Given the description of an element on the screen output the (x, y) to click on. 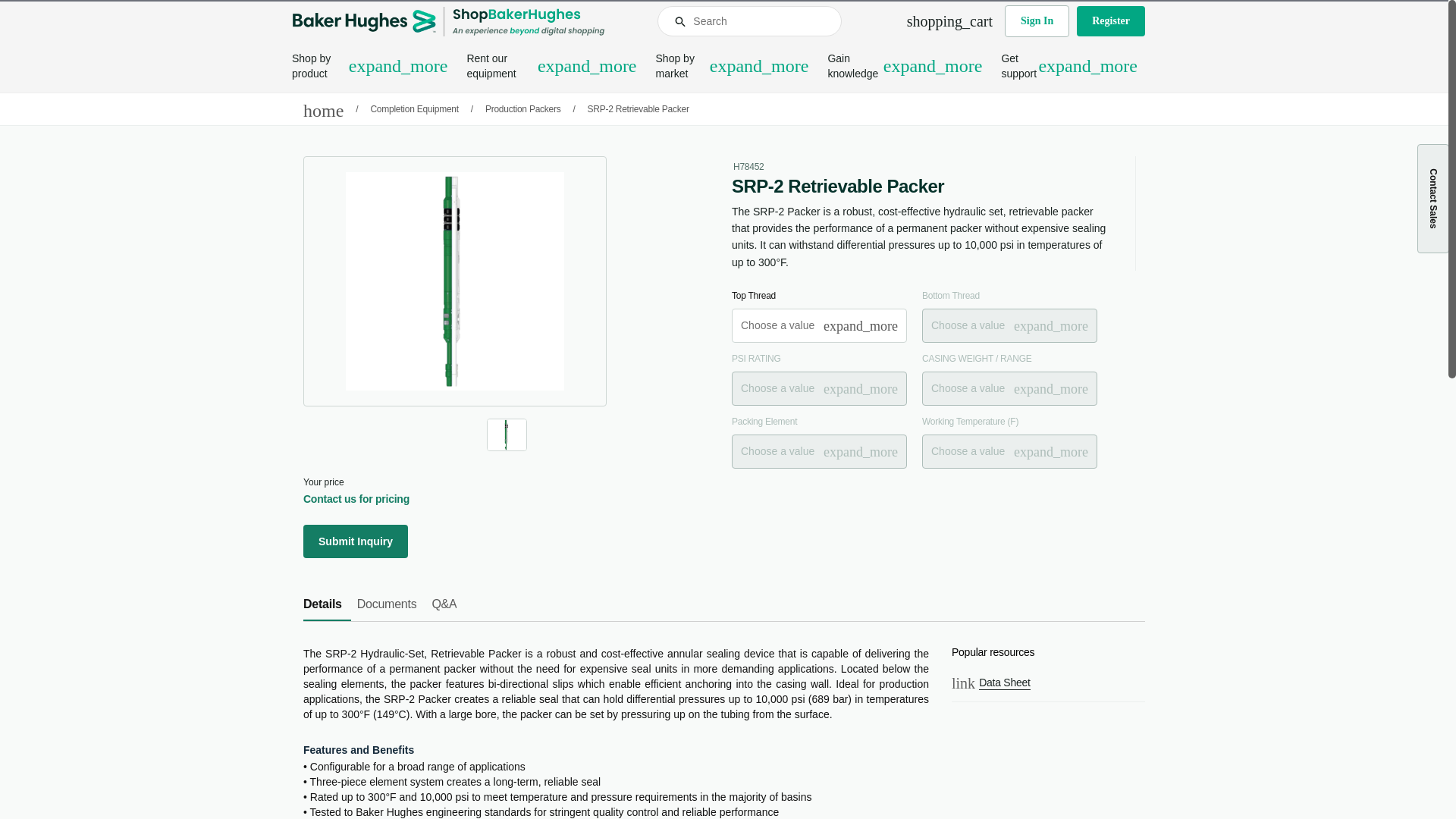
Register (1110, 20)
Sign In (1036, 20)
